Given the description of an element on the screen output the (x, y) to click on. 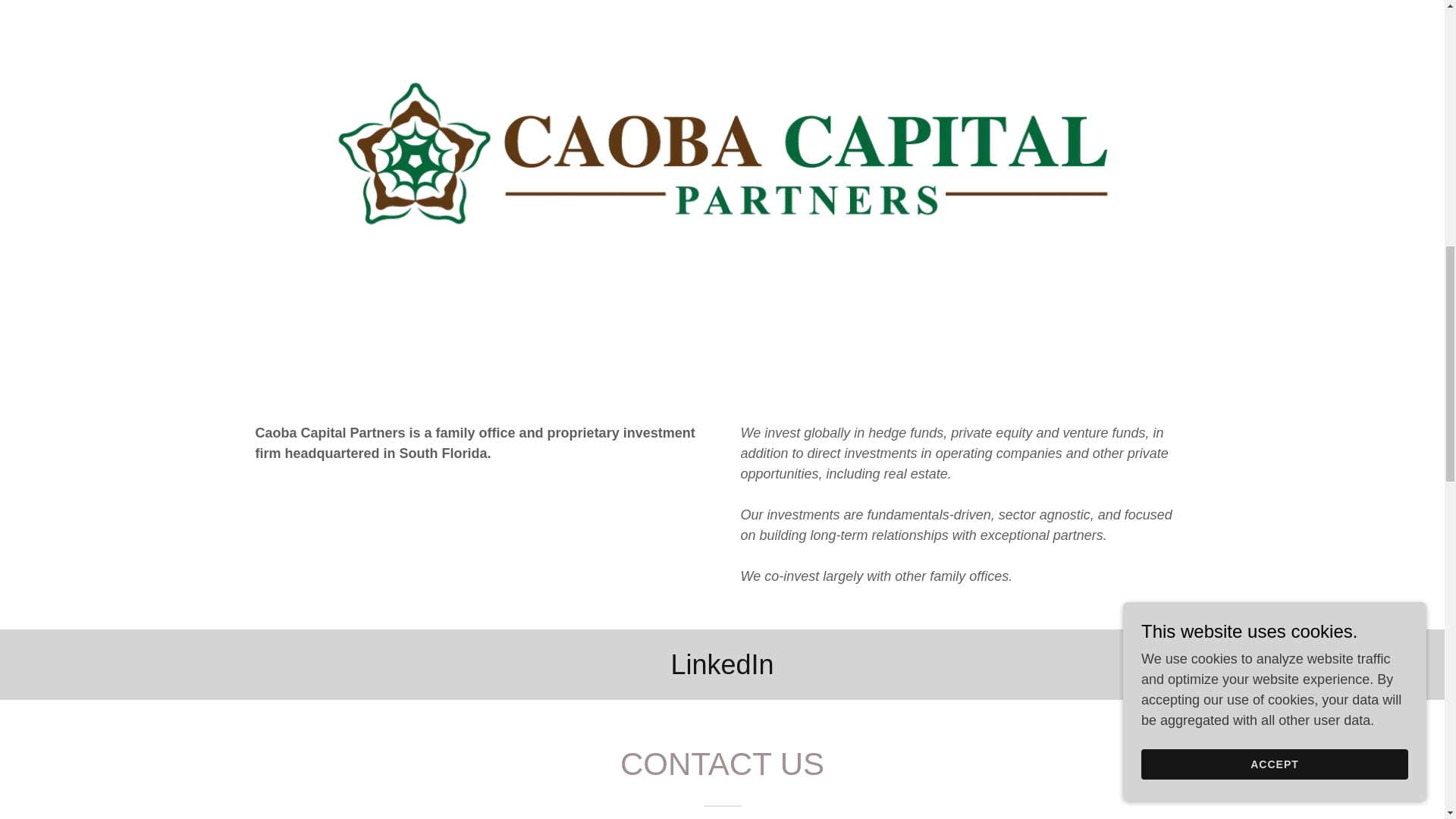
LinkedIn (721, 664)
